Given the description of an element on the screen output the (x, y) to click on. 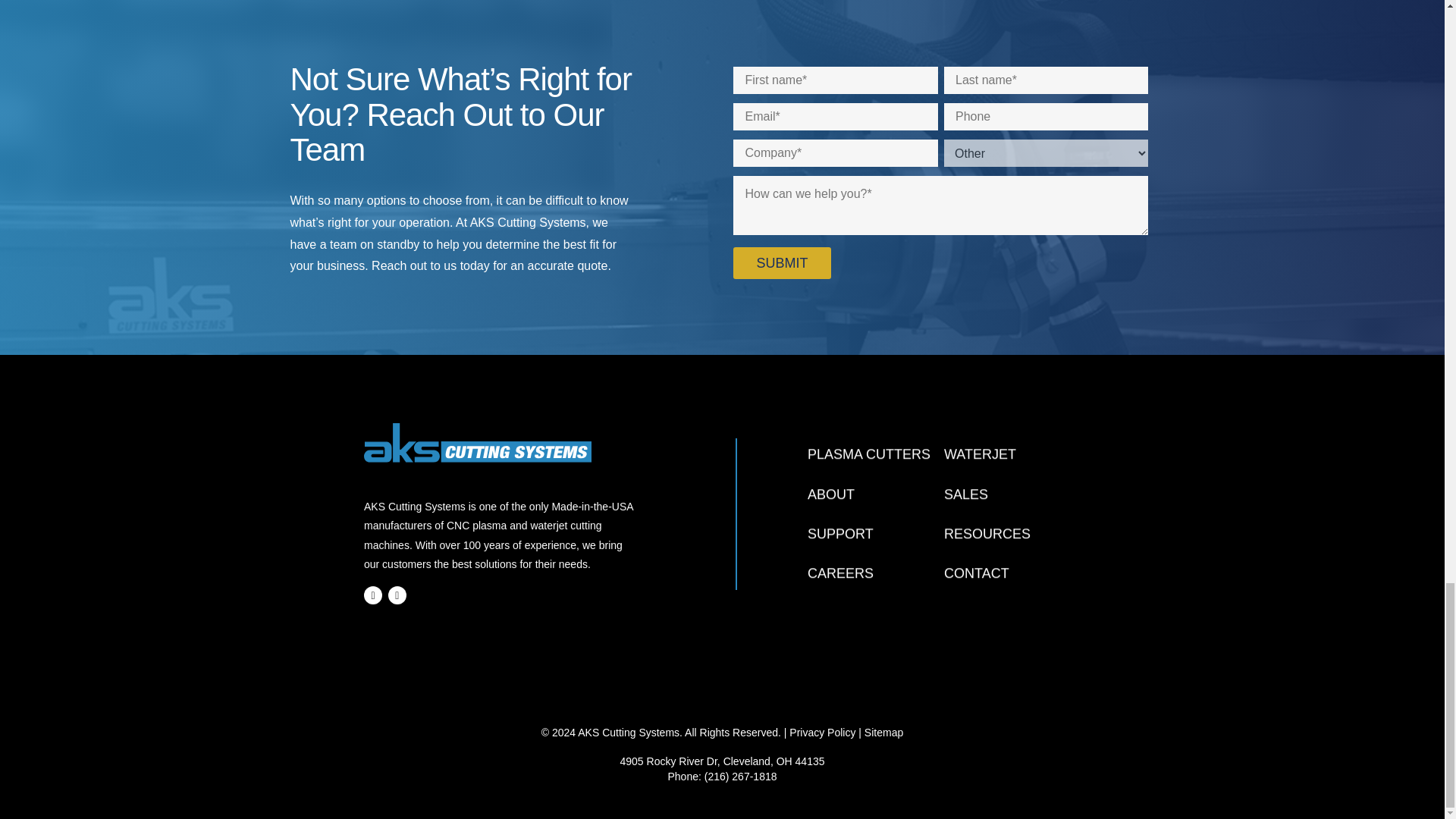
Submit (781, 263)
